Given the description of an element on the screen output the (x, y) to click on. 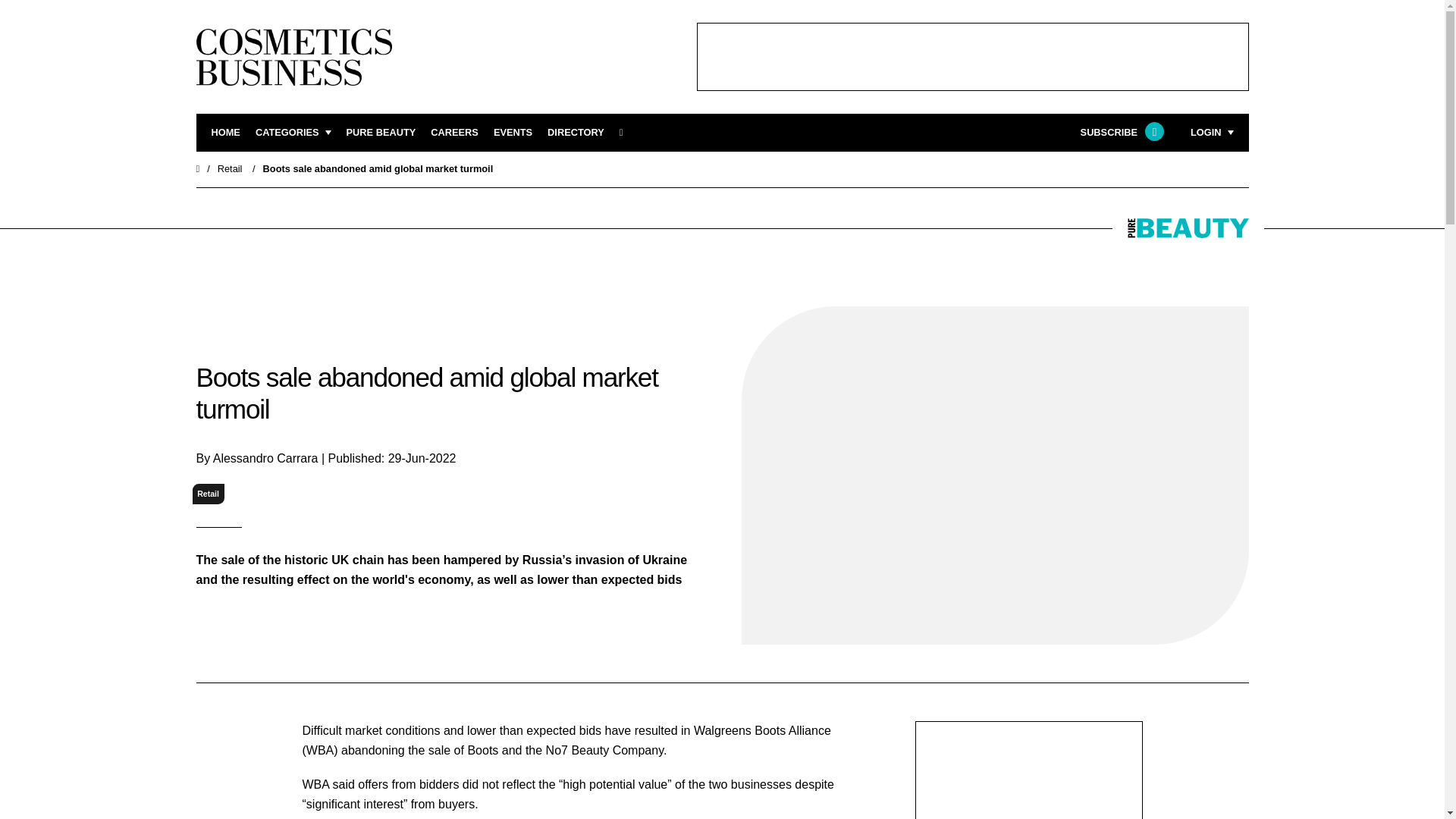
SEARCH (626, 133)
Pure Beauty (381, 133)
EVENTS (512, 133)
Directory (575, 133)
CATEGORIES (293, 133)
CAREERS (454, 133)
Retail (229, 168)
Retail (208, 494)
LOGIN (1212, 133)
SUBSCRIBE (1120, 133)
